Given the description of an element on the screen output the (x, y) to click on. 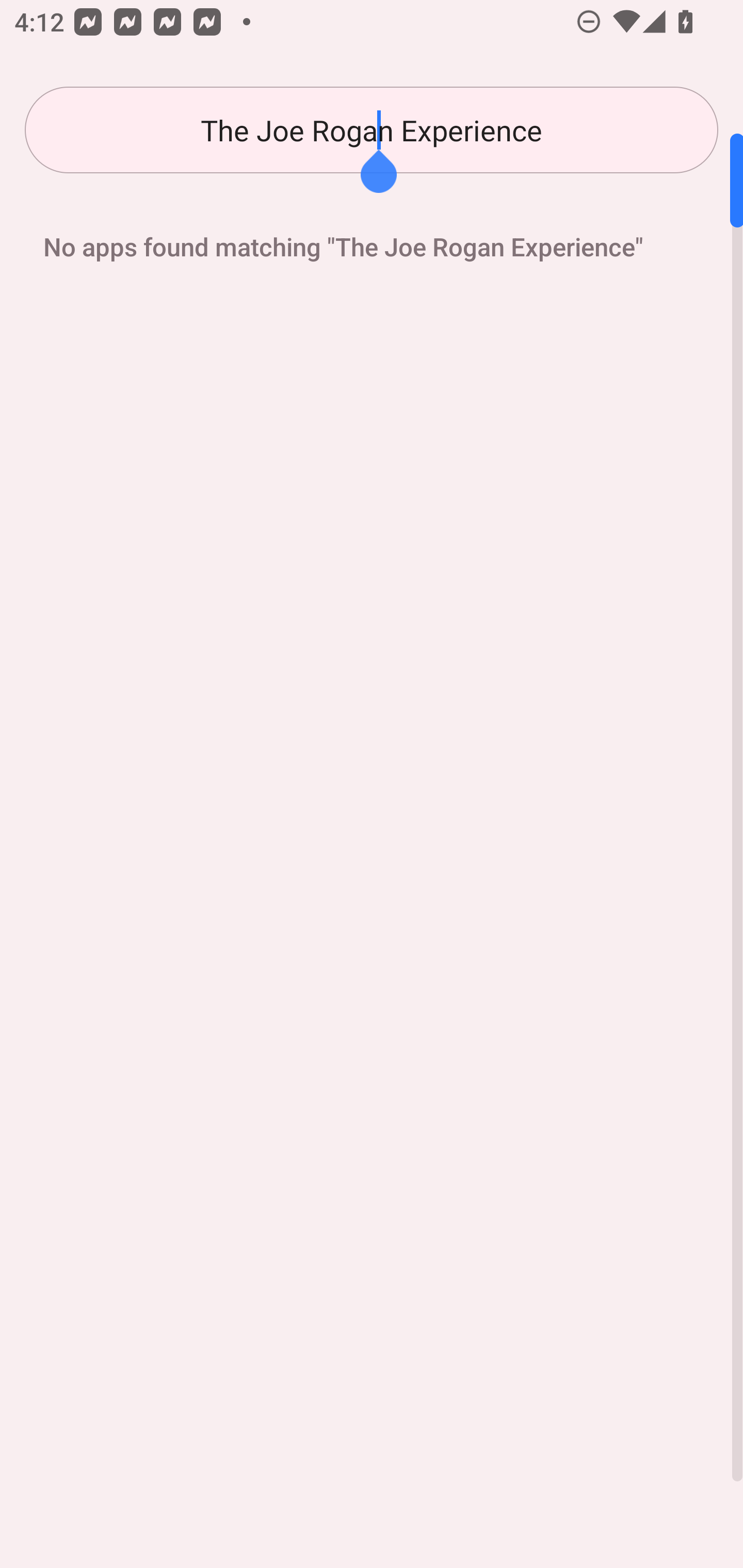
The Joe Rogan Experience (371, 130)
